Given the description of an element on the screen output the (x, y) to click on. 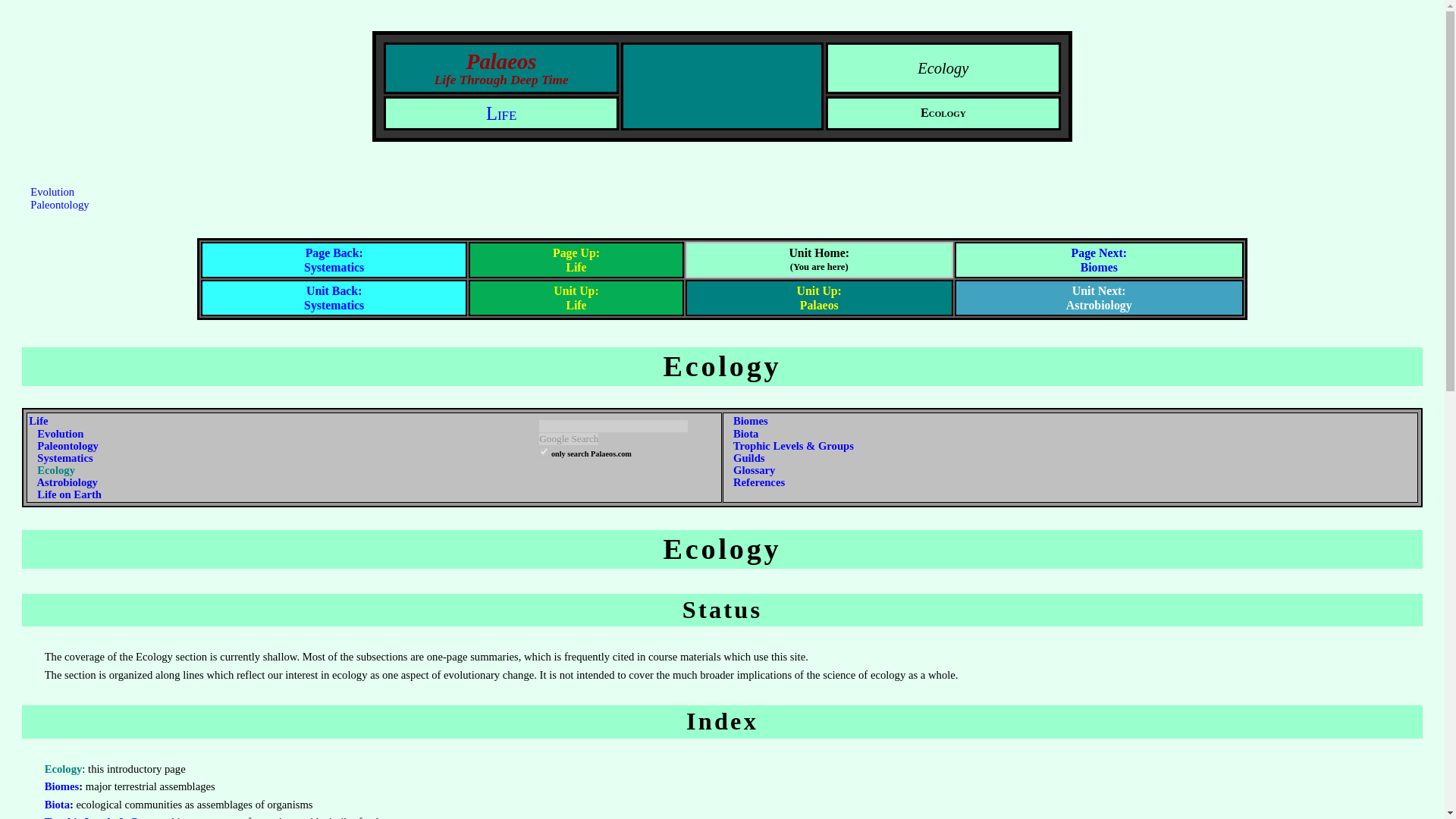
Palaeos (818, 297)
Biomes (1099, 259)
Biomes (62, 786)
Astrobiology (67, 481)
Life on Earth (69, 494)
Biota (57, 804)
Google Search (568, 439)
Palaeos (721, 86)
Ecology (56, 469)
Glossary (753, 469)
